Given the description of an element on the screen output the (x, y) to click on. 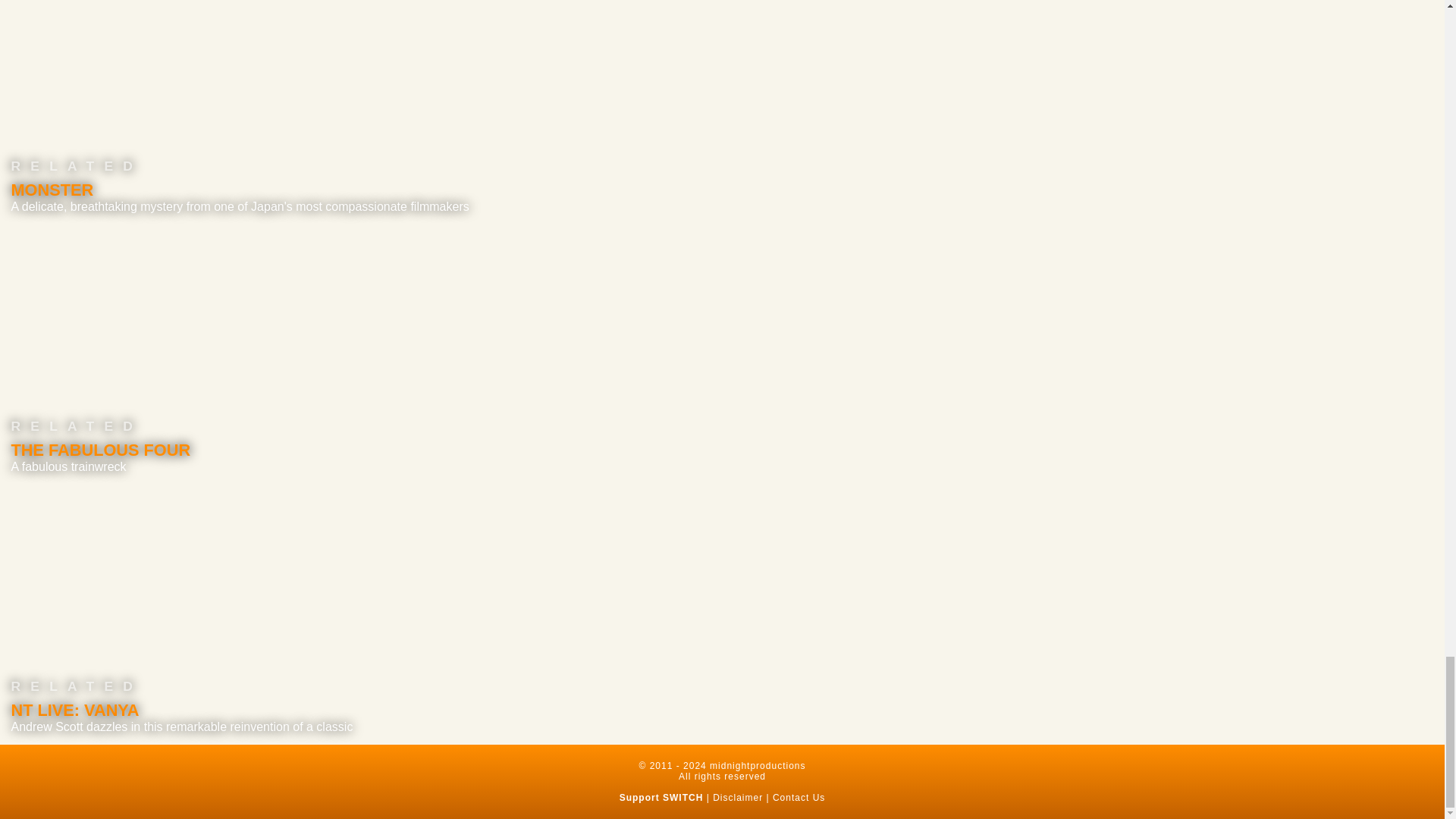
midnightproductions (757, 765)
Support SWITCH (661, 797)
Contact Us (799, 797)
Disclaimer (737, 797)
